Given the description of an element on the screen output the (x, y) to click on. 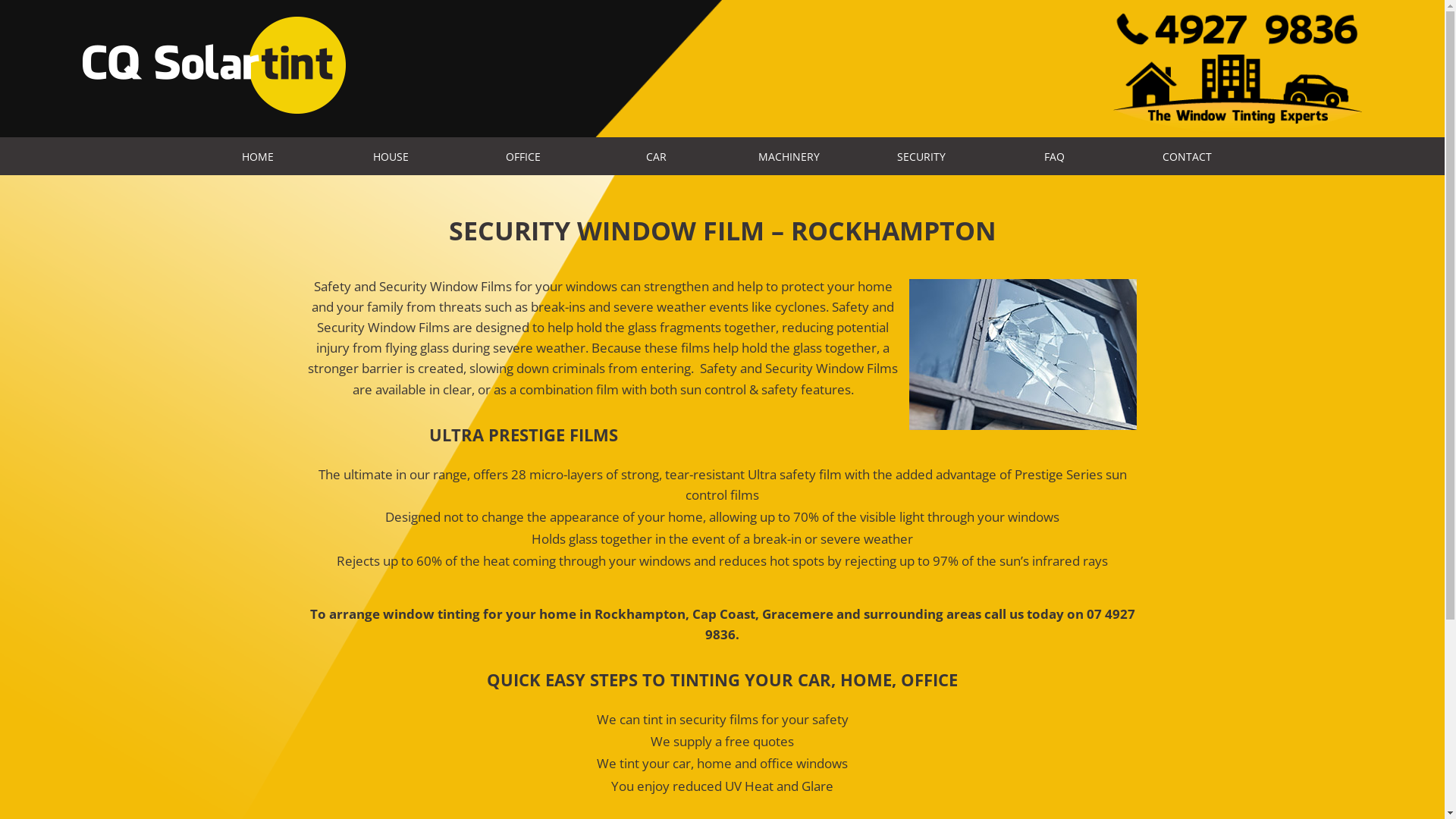
CONTACT Element type: text (1186, 156)
FAQ Element type: text (1053, 156)
MACHINERY Element type: text (787, 156)
HOUSE Element type: text (390, 156)
CAR Element type: text (655, 156)
SECURITY Element type: text (921, 156)
HOME Element type: text (257, 156)
OFFICE Element type: text (522, 156)
